Given the description of an element on the screen output the (x, y) to click on. 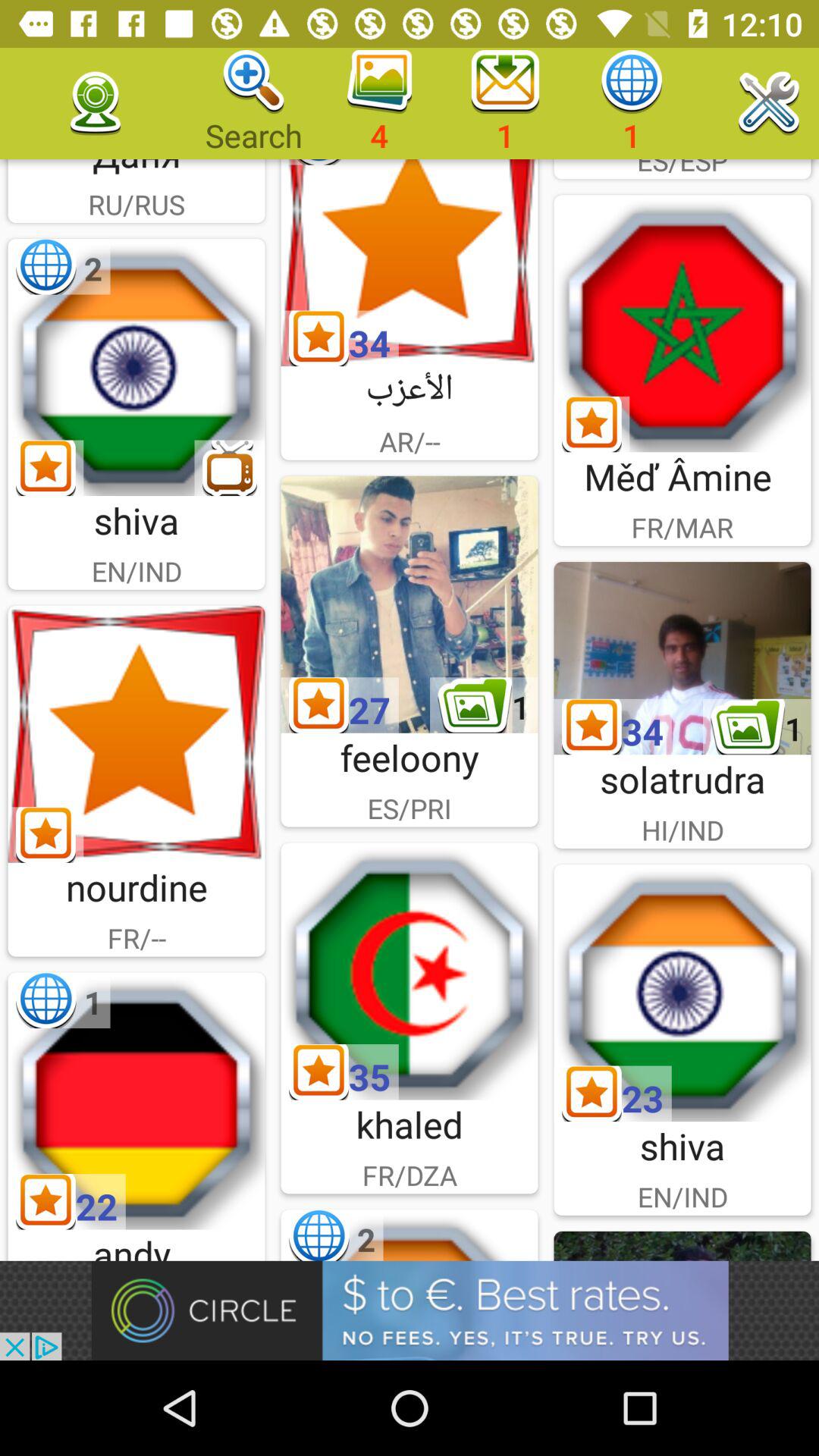
indian flag (136, 366)
